Given the description of an element on the screen output the (x, y) to click on. 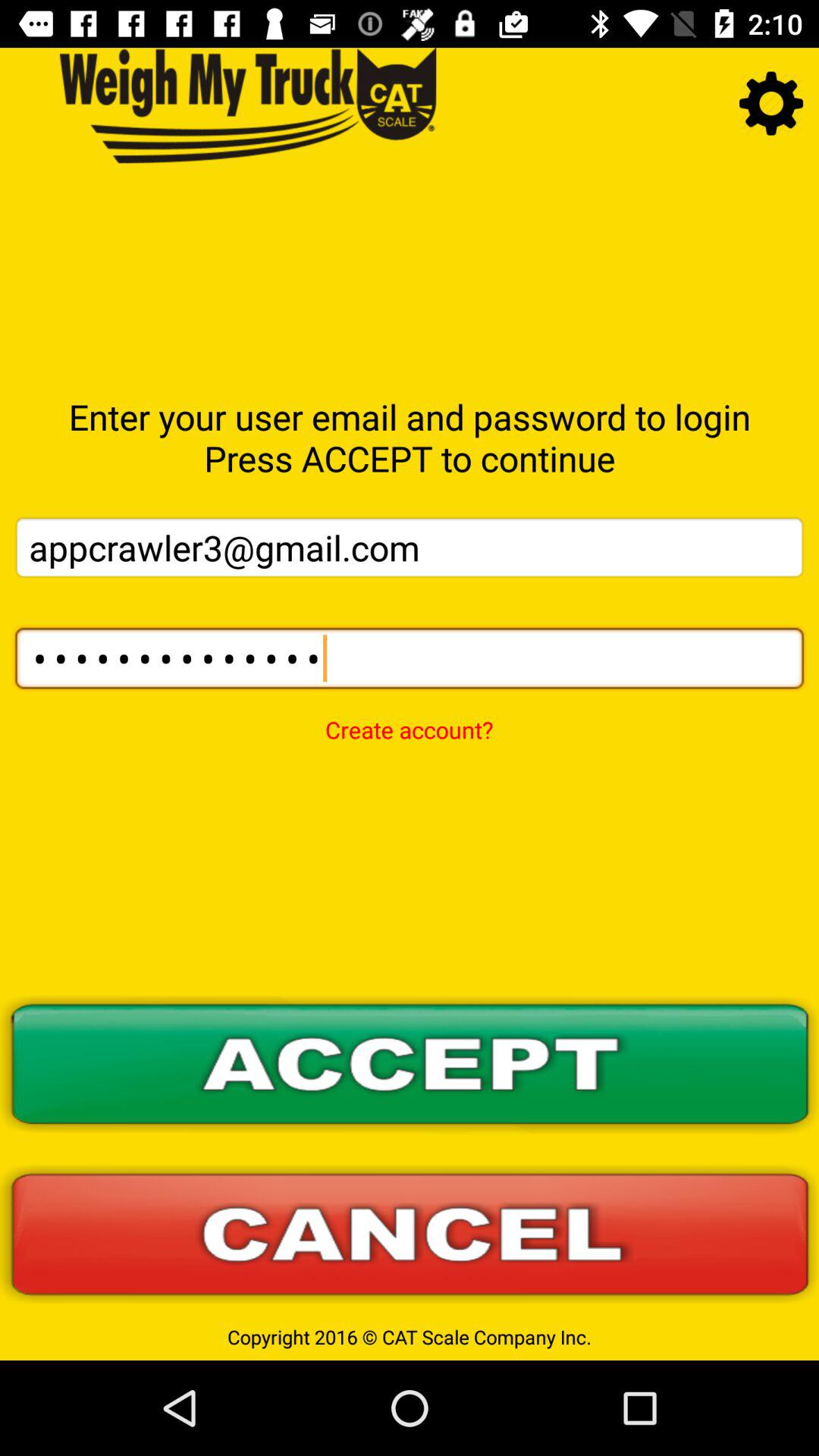
scroll until create account? item (409, 719)
